Given the description of an element on the screen output the (x, y) to click on. 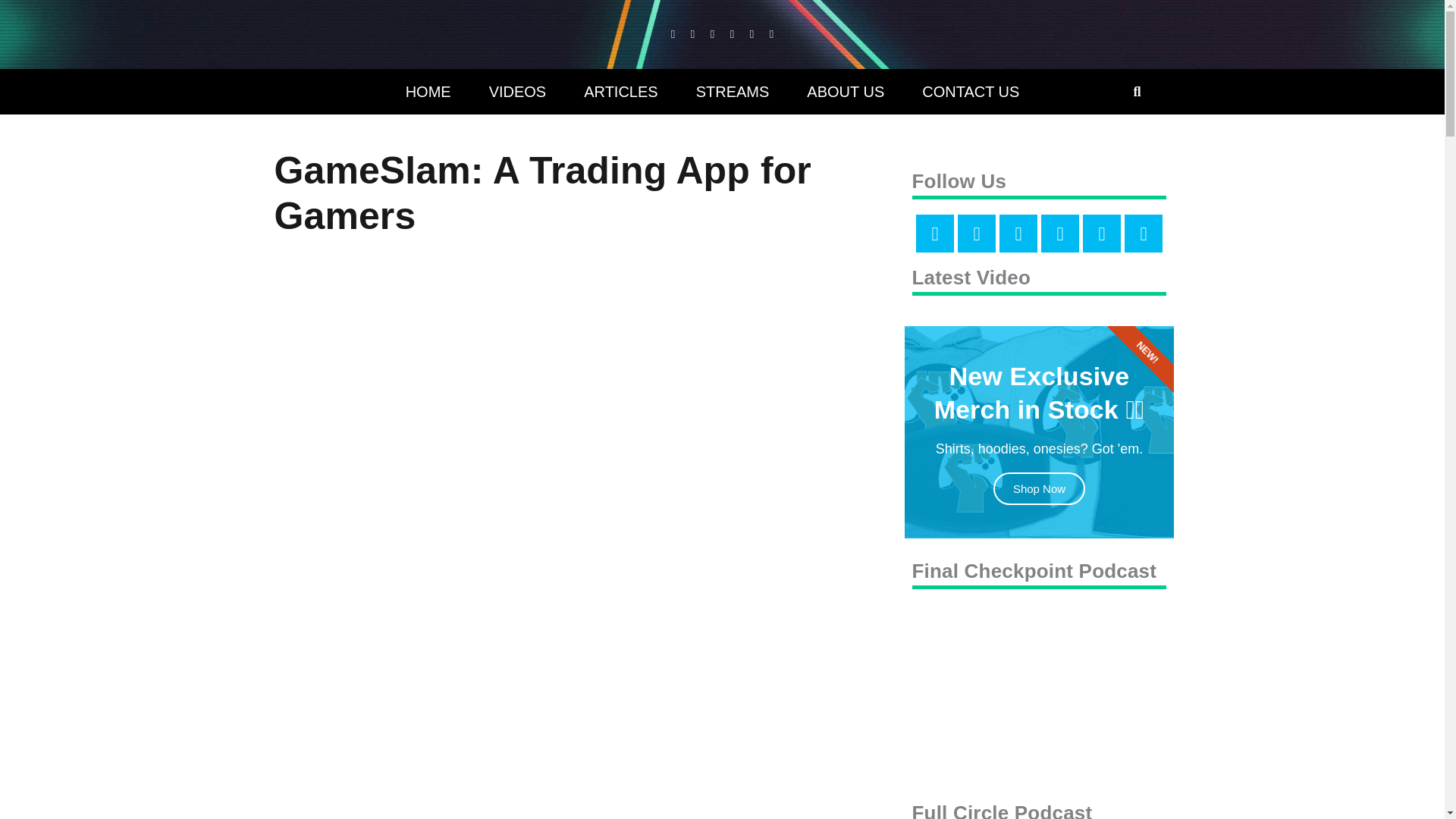
HOME (428, 91)
CONTACT US (970, 91)
ABOUT US (844, 91)
VIDEOS (518, 91)
STREAMS (733, 91)
ARTICLES (620, 91)
